Given the description of an element on the screen output the (x, y) to click on. 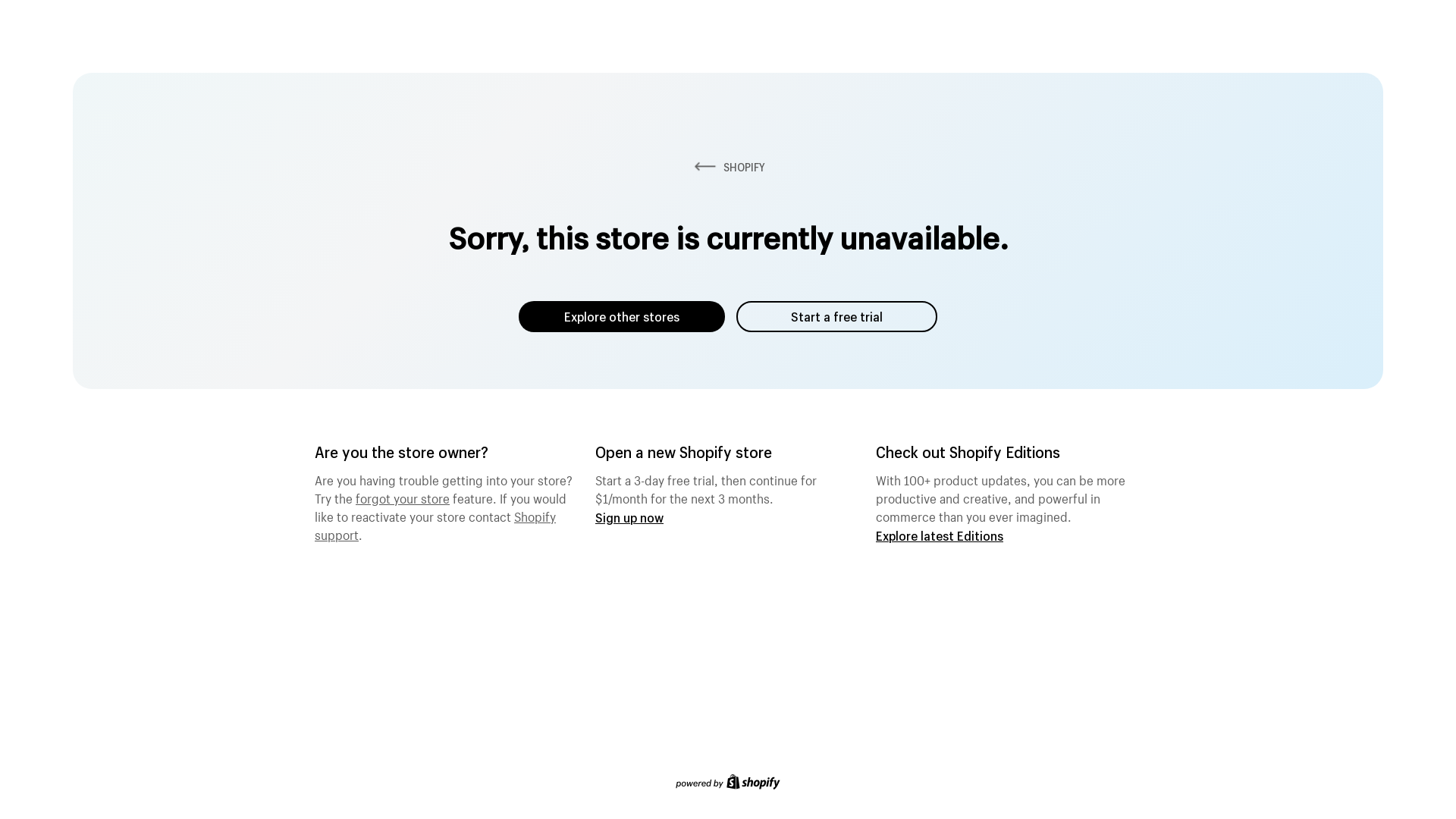
Sign up now Element type: text (629, 517)
Shopify support Element type: text (434, 523)
SHOPIFY Element type: text (727, 167)
Explore latest Editions Element type: text (939, 535)
forgot your store Element type: text (402, 496)
Explore other stores Element type: text (621, 316)
Start a free trial Element type: text (836, 316)
